Given the description of an element on the screen output the (x, y) to click on. 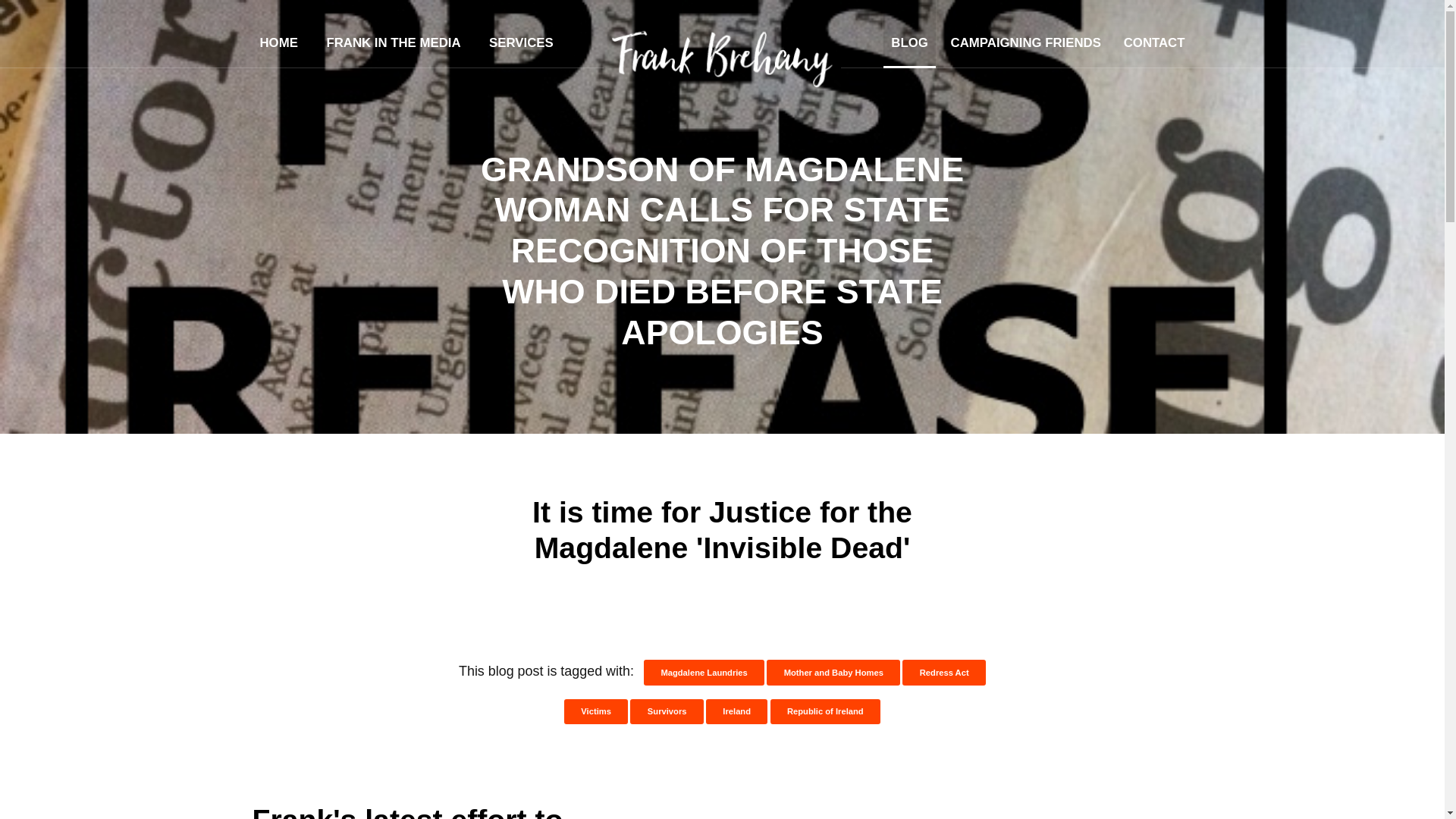
Survivors (666, 711)
Republic of Ireland (825, 711)
Magdalene Laundries (703, 672)
Ireland (736, 711)
FRANK IN THE MEDIA (392, 33)
SERVICES (520, 33)
CAMPAIGNING FRIENDS (1025, 33)
Mother and Baby Homes (833, 672)
Redress Act (943, 672)
CONTACT (1154, 33)
